Given the description of an element on the screen output the (x, y) to click on. 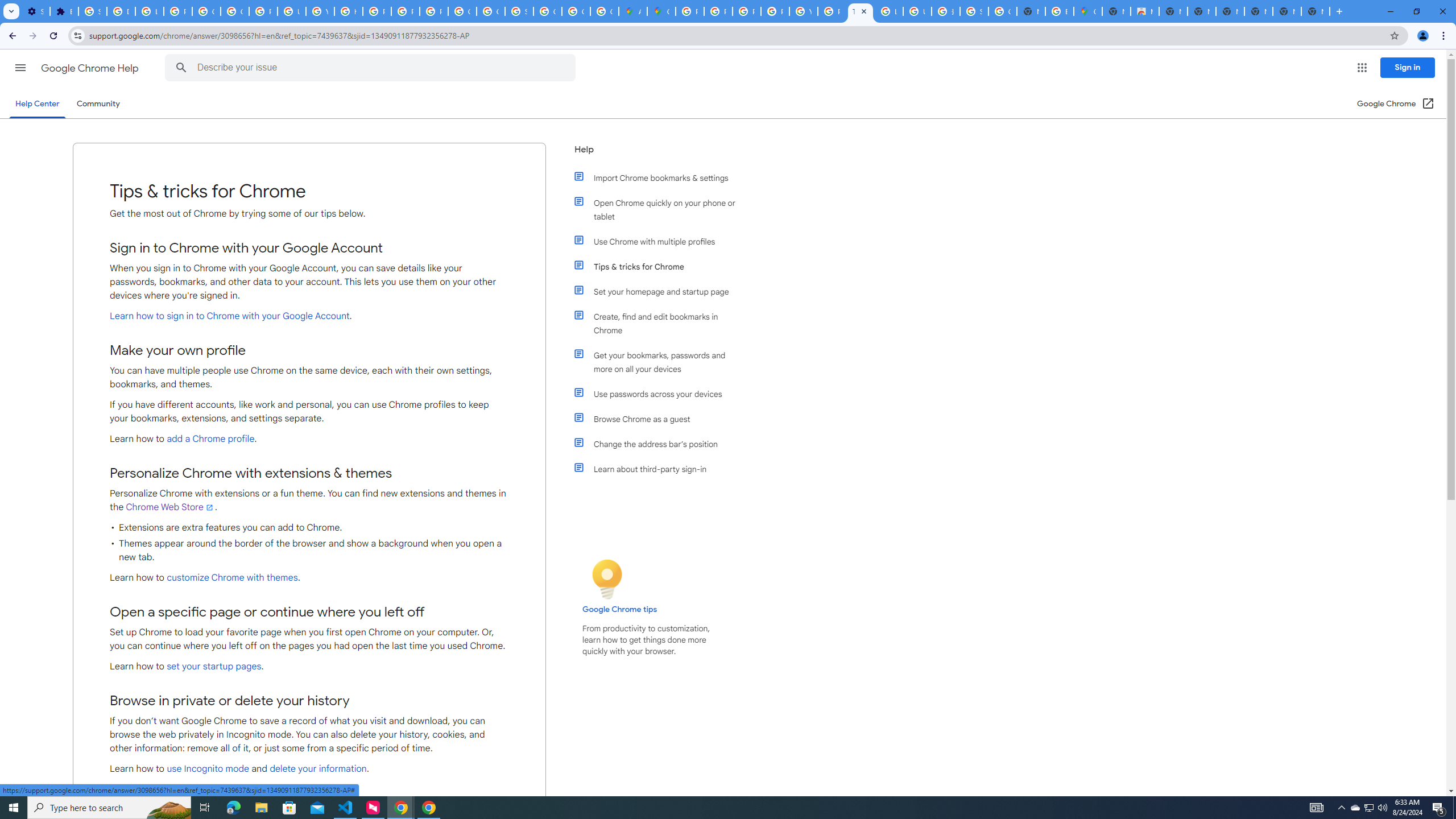
Google Maps (1088, 11)
Sign in - Google Accounts (973, 11)
Set your homepage and startup page (661, 291)
use Incognito mode (206, 768)
Help Center (36, 103)
Create your Google Account (604, 11)
Use passwords across your devices (661, 394)
Create, find and edit bookmarks in Chrome (661, 323)
